Given the description of an element on the screen output the (x, y) to click on. 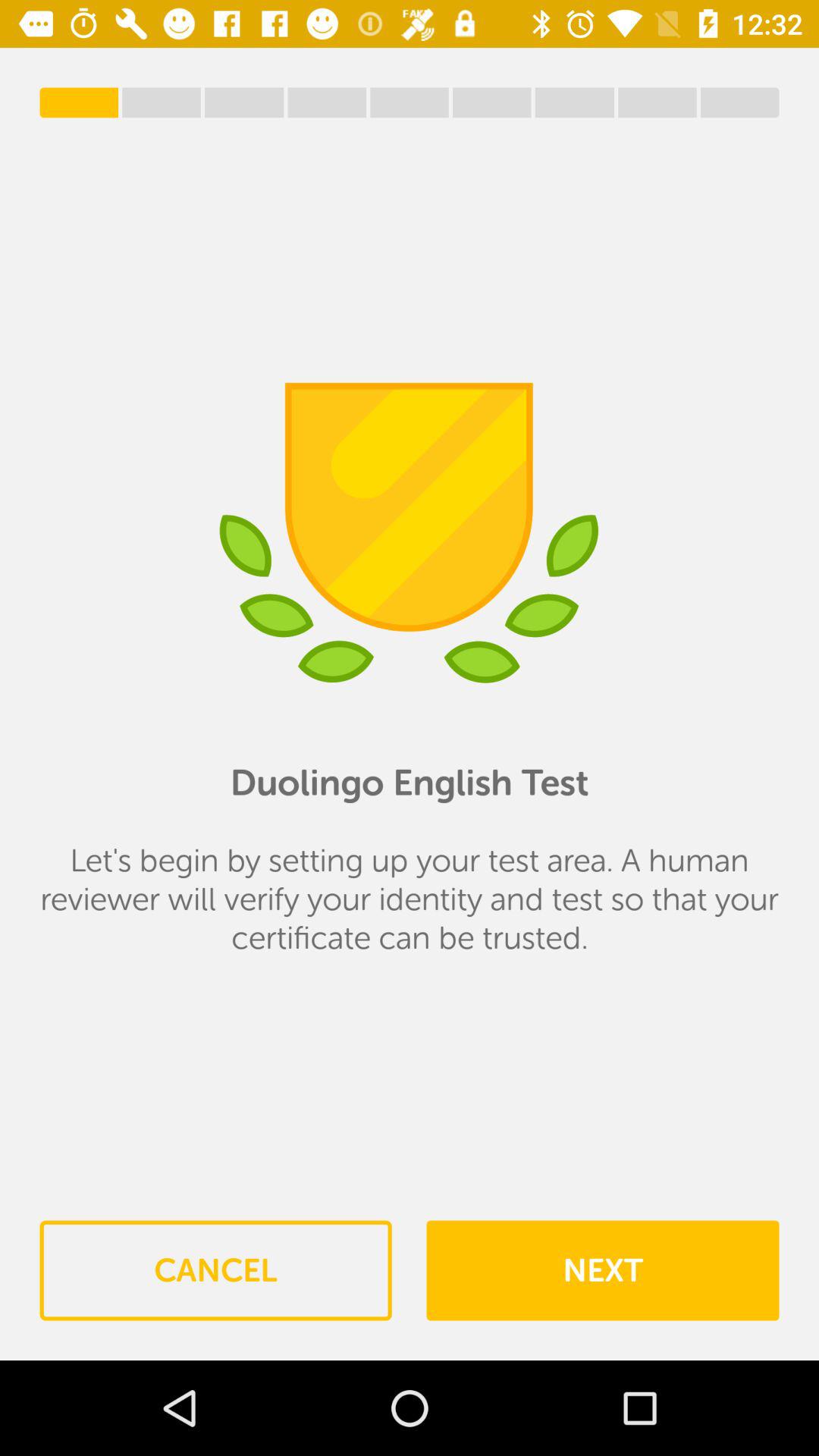
turn off item at the bottom left corner (215, 1270)
